Given the description of an element on the screen output the (x, y) to click on. 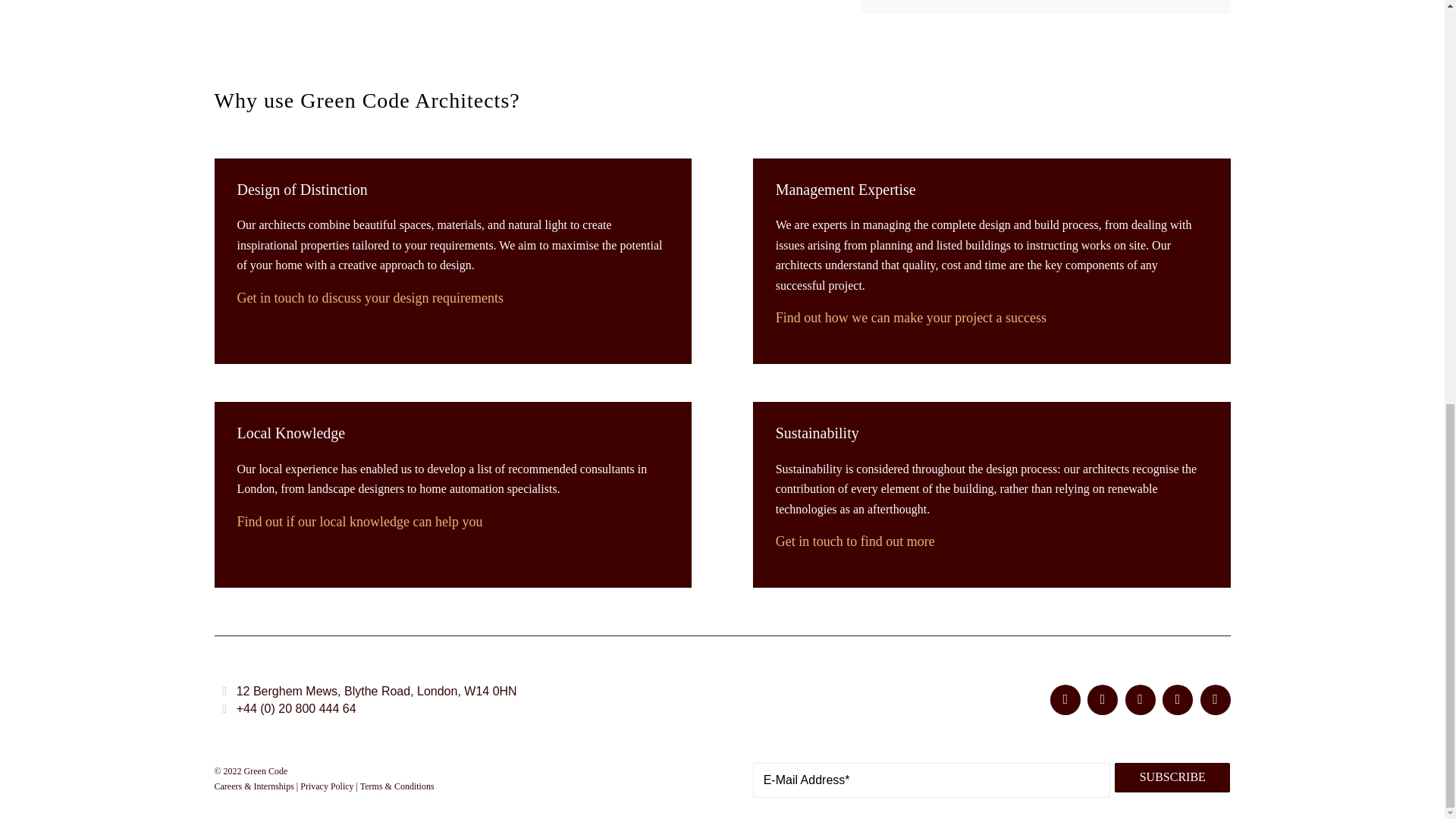
12 Berghem Mews, Blythe Road, London, W14 0HN (375, 690)
12 Berghem Mews, Blythe Road, London, W14 0HN (223, 691)
Subscribe (1172, 777)
